Given the description of an element on the screen output the (x, y) to click on. 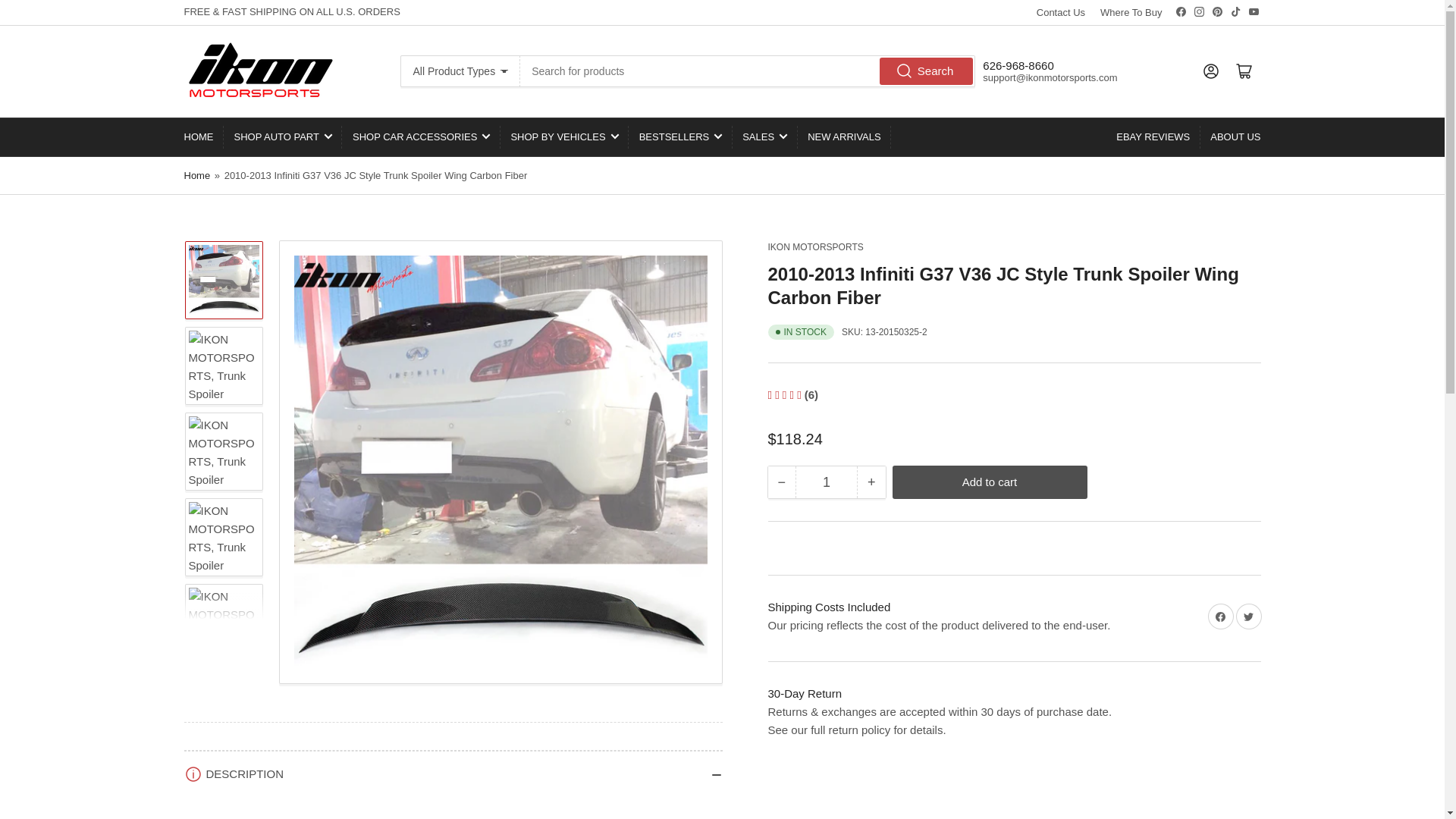
Shipping Policy (828, 606)
TikTok (1235, 11)
Ikon Motorsports (815, 245)
Search (926, 71)
Refund Policy (804, 693)
Log in (1210, 70)
Facebook (1180, 11)
Instagram (1199, 11)
YouTube (1253, 11)
Open mini cart (1243, 70)
1 (825, 481)
Where To Buy (1130, 12)
Pinterest (1216, 11)
Contact Us (1060, 12)
